Given the description of an element on the screen output the (x, y) to click on. 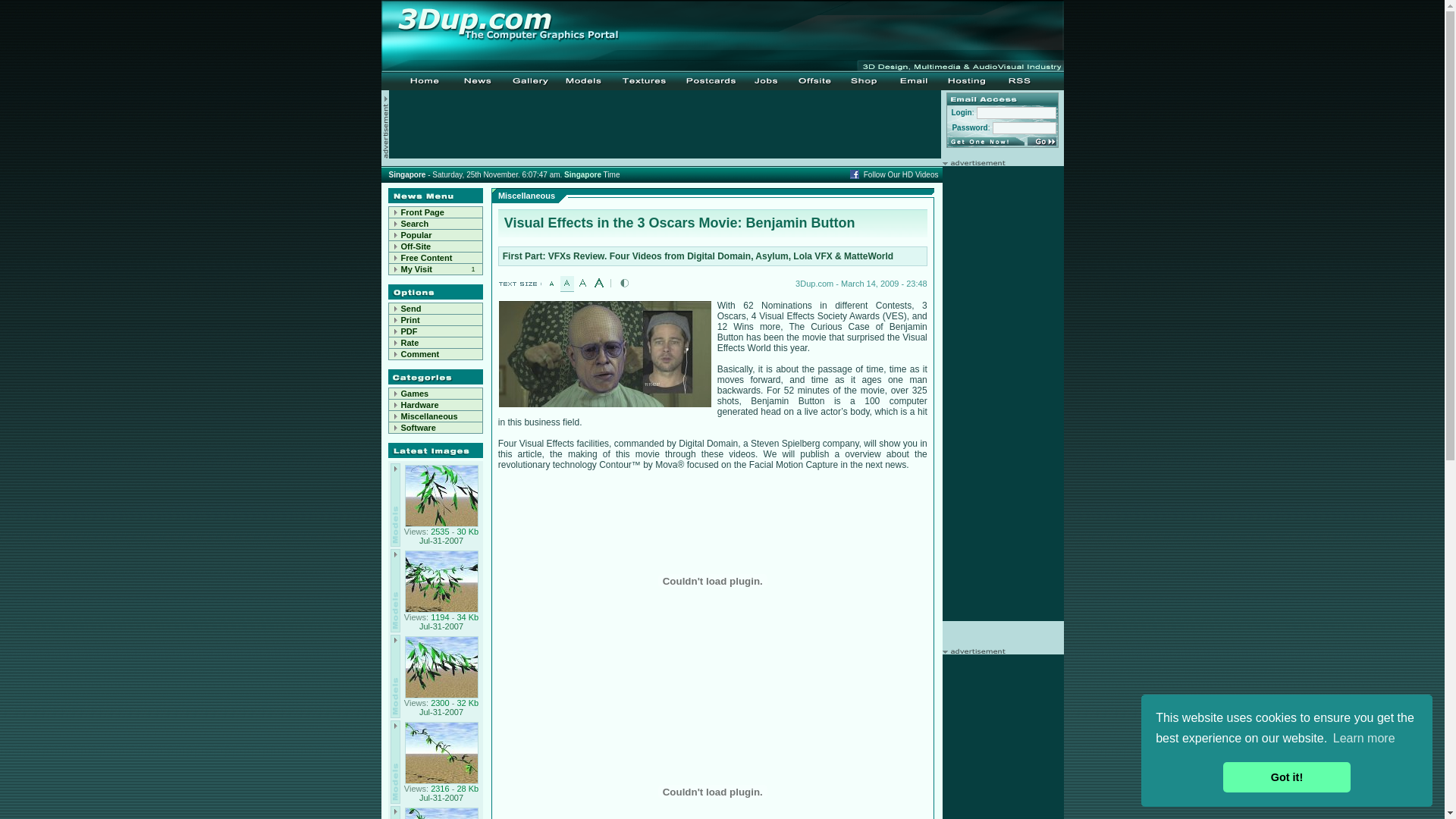
Search Element type: text (435, 223)
Rate Element type: text (435, 342)
Software Element type: text (435, 427)
Front Page Element type: text (435, 211)
Miscellaneous Element type: text (435, 416)
Off-Site Element type: text (435, 246)
Learn more Element type: text (1363, 738)
Popular Element type: text (415, 234)
Comment Element type: text (435, 354)
Read with Larger Text Element type: hover (598, 282)
Front Page Element type: text (421, 211)
My Visit Element type: text (429, 269)
Off-Site Element type: text (415, 246)
PDF Element type: text (435, 331)
Follow Our HD Videos Element type: text (900, 173)
Got it! Element type: text (1286, 777)
Games Element type: text (435, 393)
Print Element type: text (409, 319)
Miscellaneous Element type: text (428, 415)
Hardware Element type: text (435, 404)
Free Content Element type: text (435, 257)
PDF Element type: text (408, 330)
1 Element type: text (472, 269)
Search Element type: text (414, 223)
Send Element type: text (410, 308)
My Visit Element type: text (415, 268)
Games Element type: text (414, 393)
Popular Element type: text (435, 234)
Software Element type: text (417, 427)
Read with Small Text Element type: hover (551, 282)
Read with Normal Text Element type: hover (567, 282)
Read with Large Text Element type: hover (582, 282)
Free Content Element type: text (425, 257)
Rate Element type: text (409, 342)
Comment Element type: text (419, 353)
Hardware Element type: text (419, 404)
Print Element type: text (435, 319)
1 Element type: text (476, 269)
Send Element type: text (435, 308)
